Given the description of an element on the screen output the (x, y) to click on. 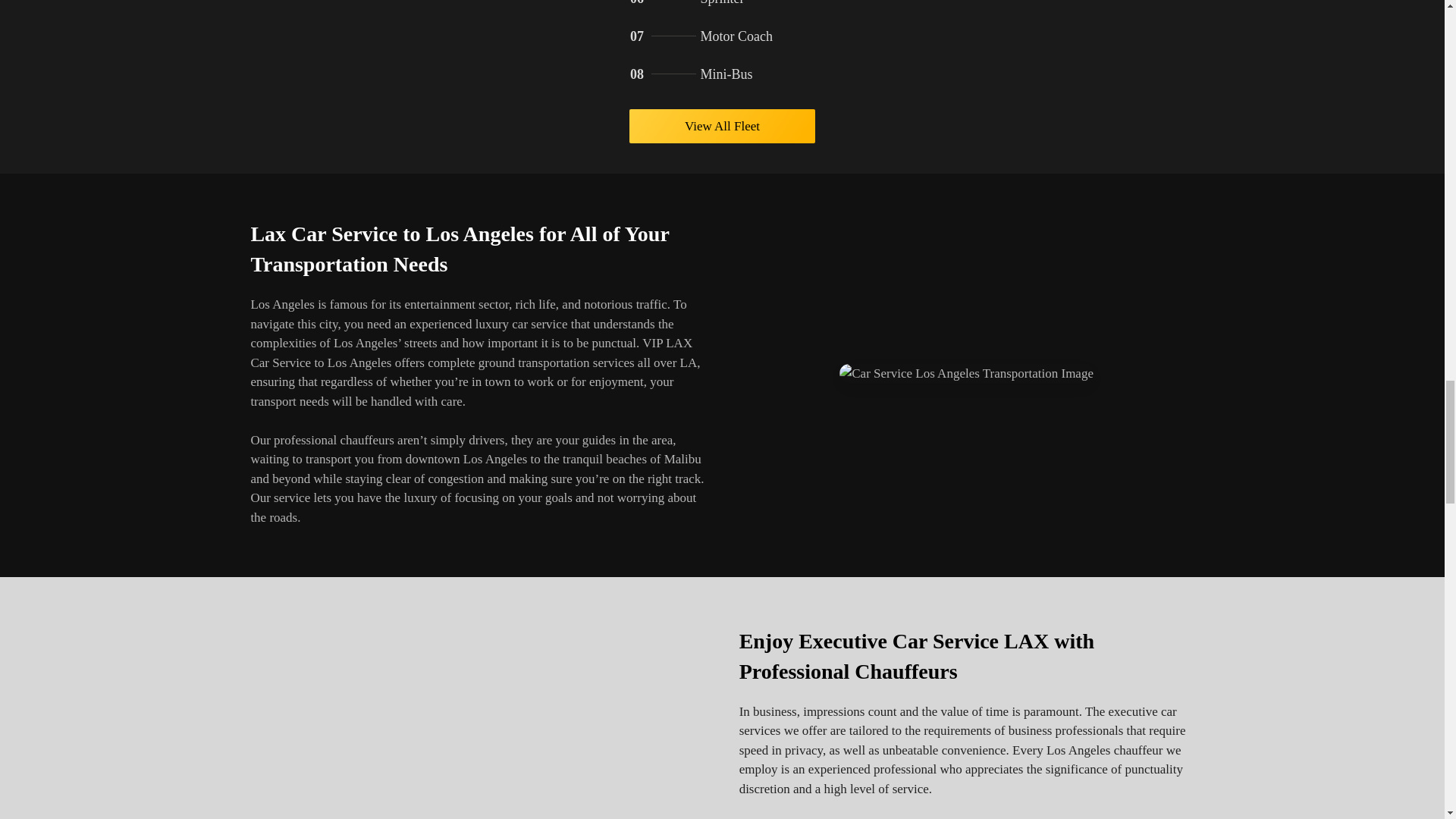
View All Fleet (721, 126)
